Given the description of an element on the screen output the (x, y) to click on. 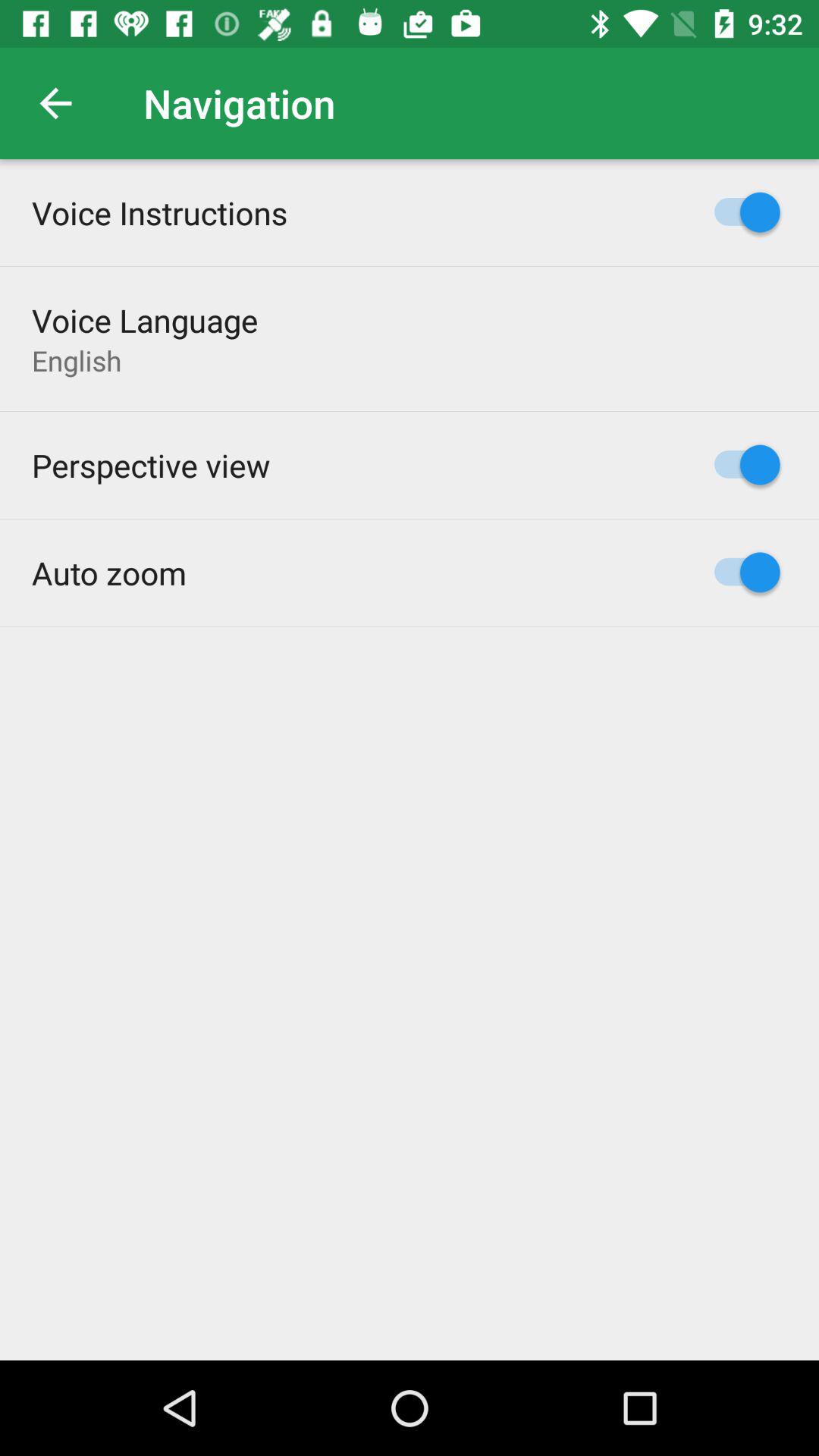
click the voice instructions icon (159, 212)
